Given the description of an element on the screen output the (x, y) to click on. 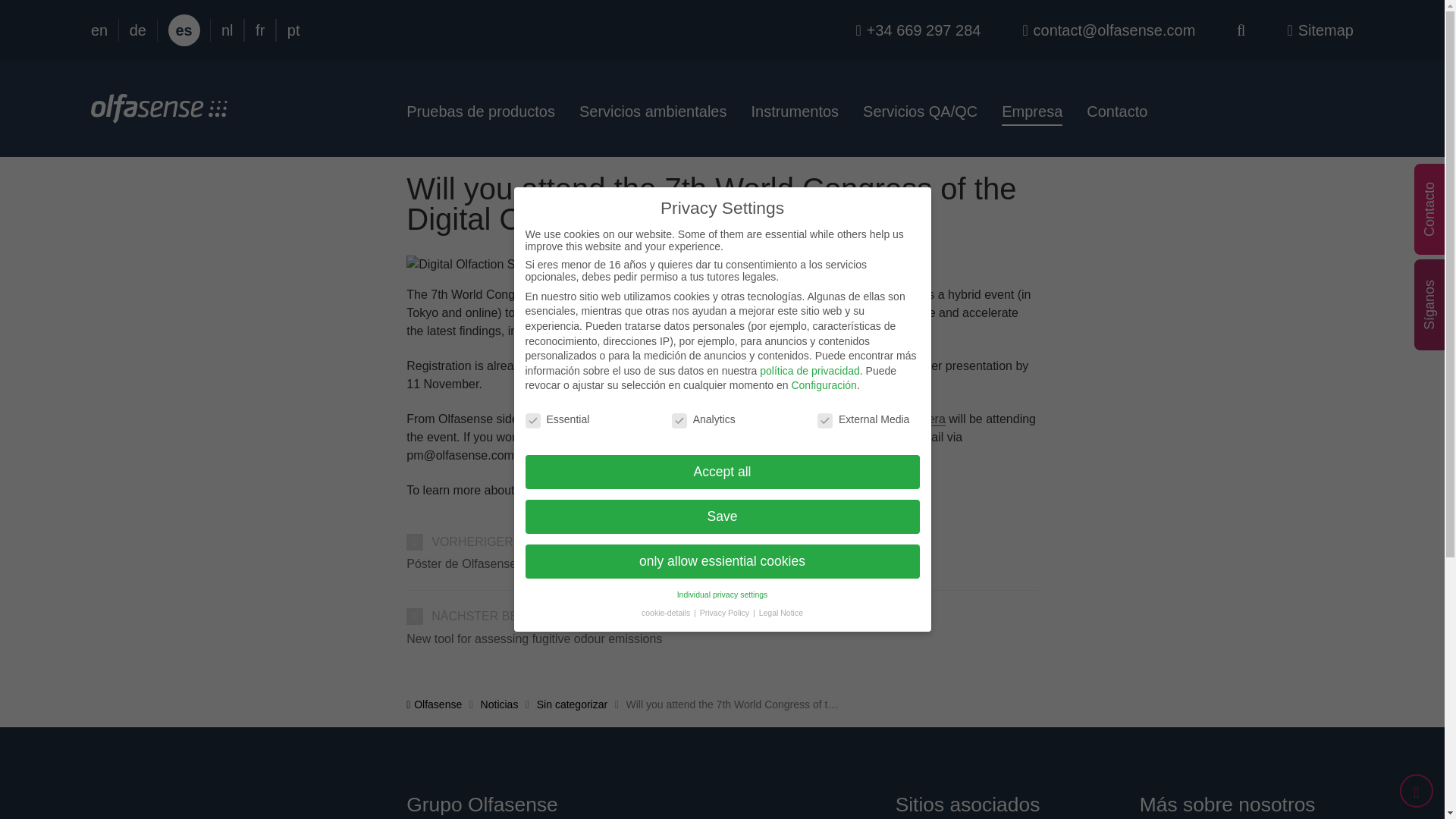
Deutsch (138, 29)
Instrumentos (794, 111)
en (98, 29)
English (98, 29)
Sitemap (1320, 29)
fr (260, 29)
Pruebas de productos (486, 111)
New tool for assessing fugitive odour emissions (722, 638)
Servicios ambientales (653, 111)
Nederlands (226, 29)
nl (226, 29)
Go to Olfasense. (433, 704)
de (138, 29)
pt (292, 29)
Olfasense - From Odour Data to Odour Knowledge (158, 114)
